Given the description of an element on the screen output the (x, y) to click on. 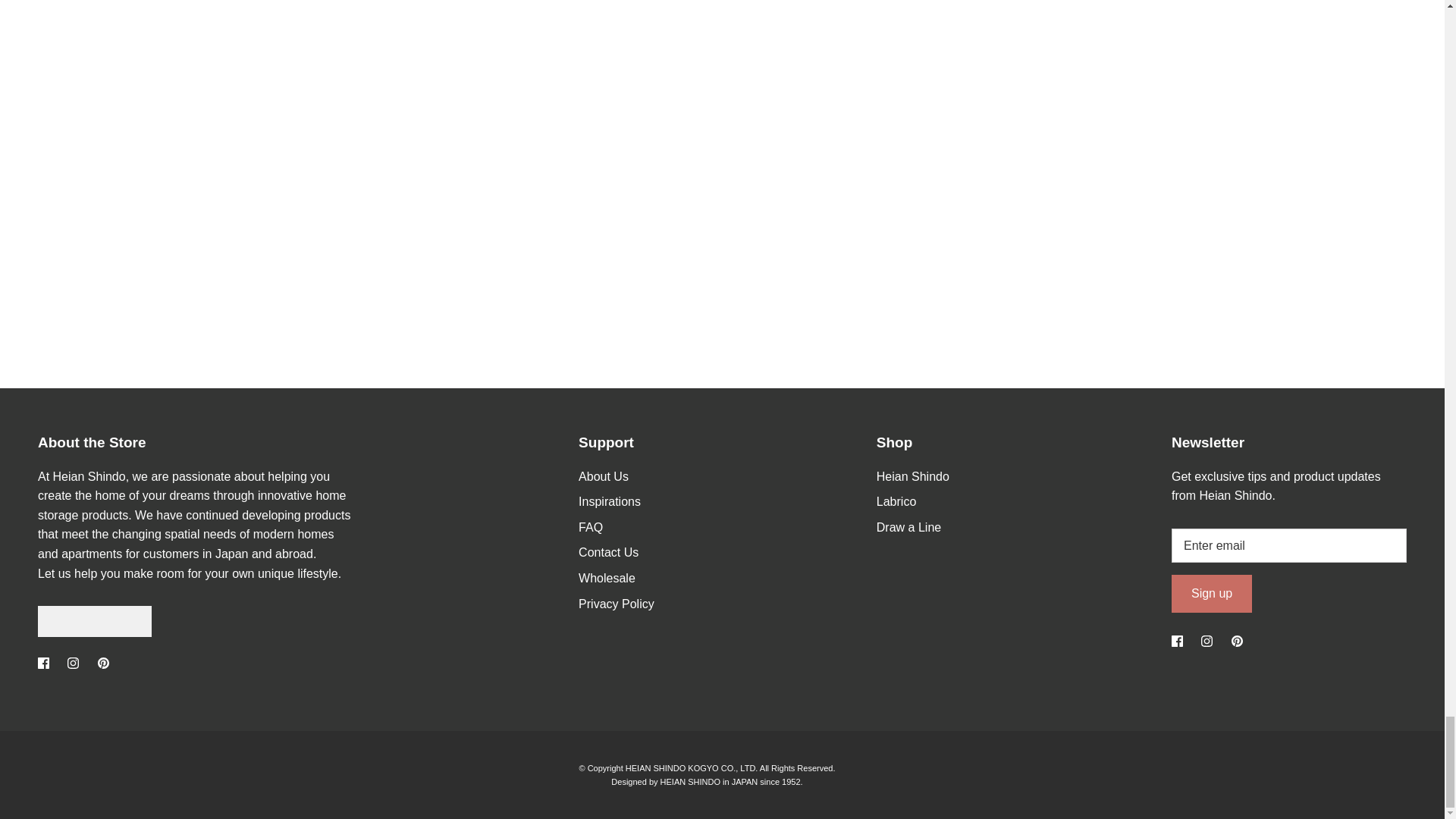
Facebook (1177, 641)
Instagram (72, 663)
Facebook (43, 663)
Pinterest (103, 663)
Pinterest (1237, 641)
Instagram (1206, 641)
